Given the description of an element on the screen output the (x, y) to click on. 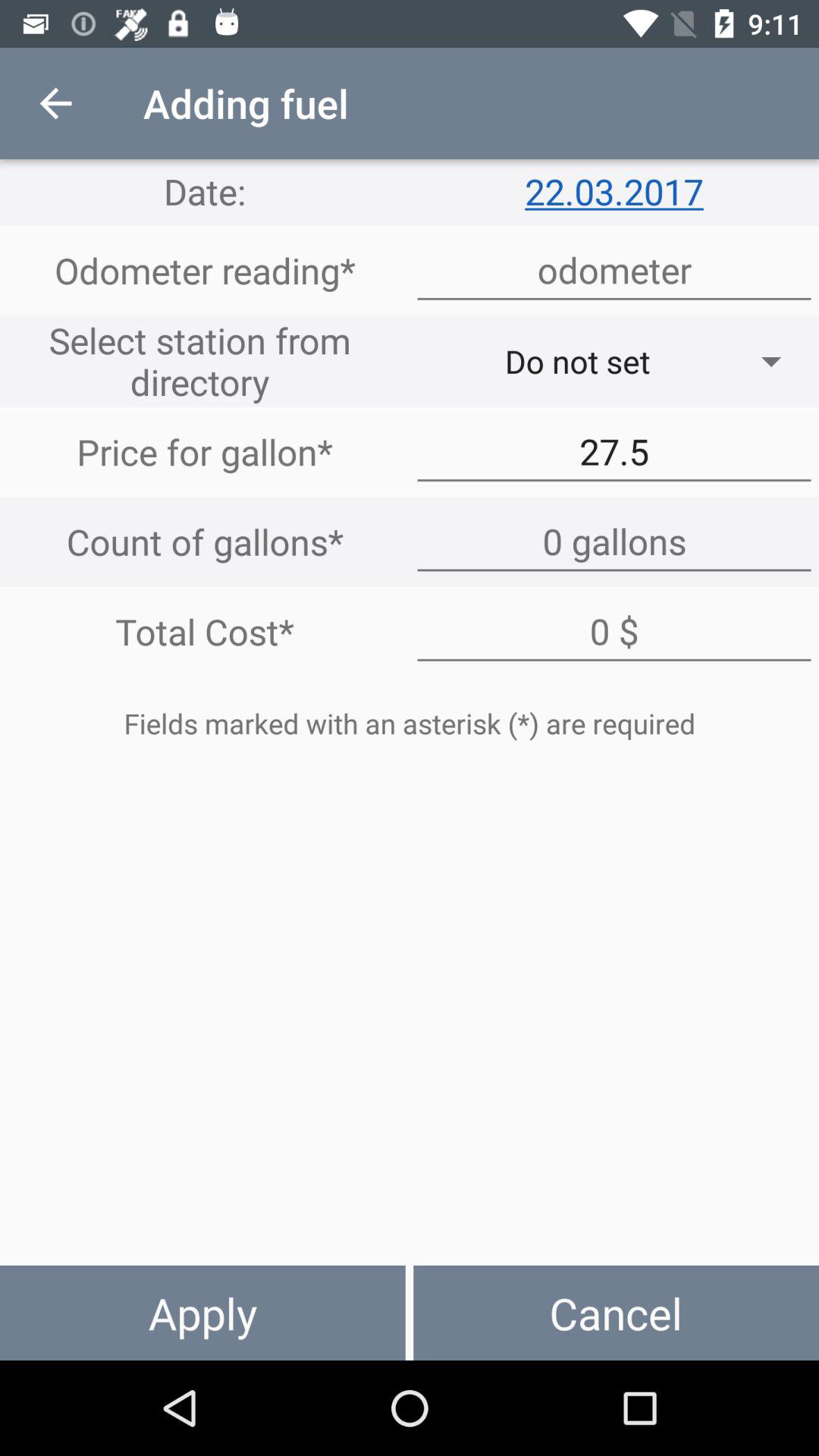
total cost type line (614, 631)
